Given the description of an element on the screen output the (x, y) to click on. 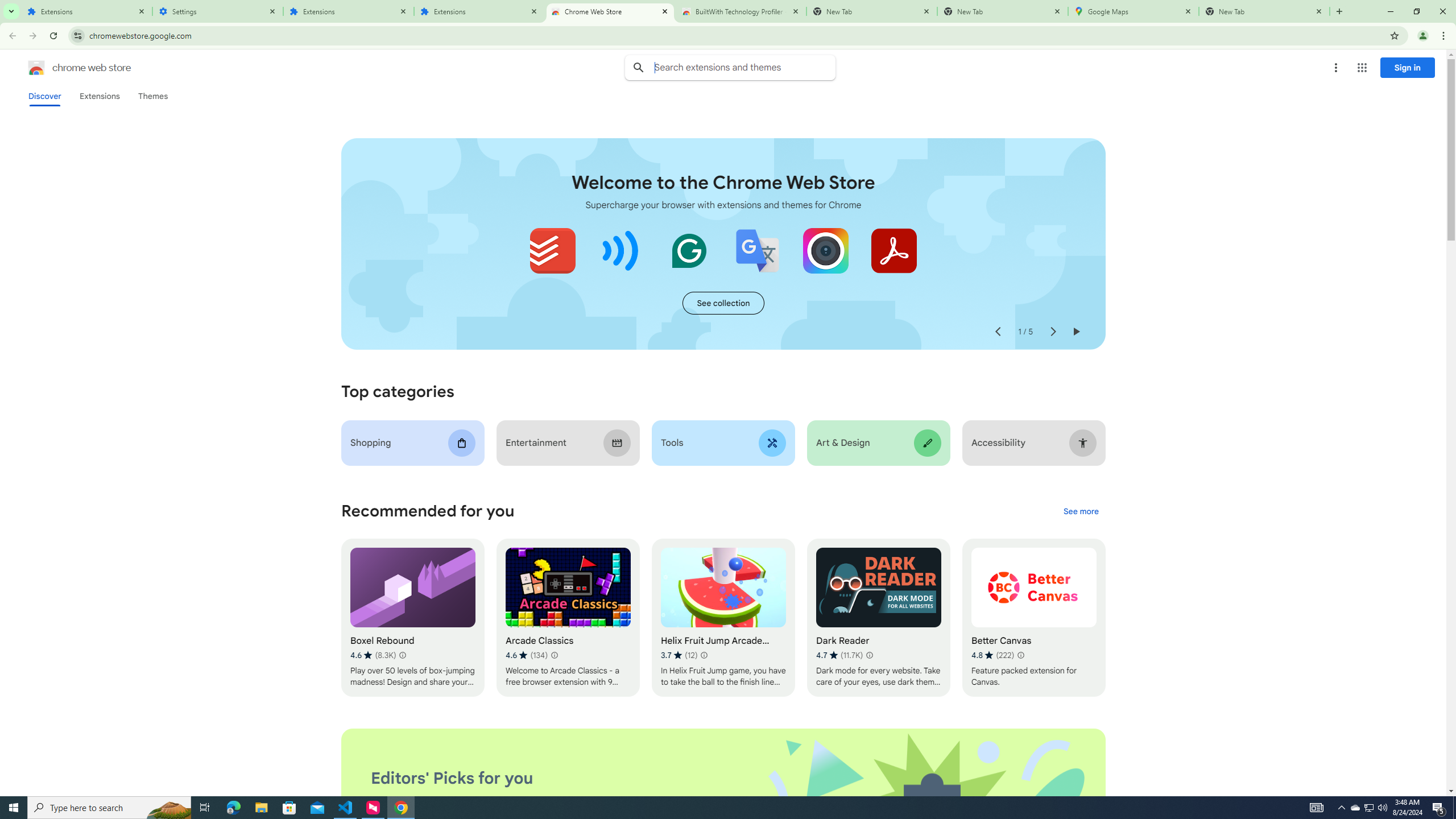
Extensions (86, 11)
Awesome Screen Recorder & Screenshot (825, 250)
Better Canvas (1033, 617)
Themes (152, 95)
Adobe Acrobat: PDF edit, convert, sign tools (893, 250)
Google Maps (1133, 11)
Boxel Rebound (412, 617)
New Tab (1264, 11)
See more personalized recommendations (1080, 511)
Discover (43, 95)
Arcade Classics (567, 617)
Tools (722, 443)
Learn more about results and reviews "Boxel Rebound" (402, 655)
